Given the description of an element on the screen output the (x, y) to click on. 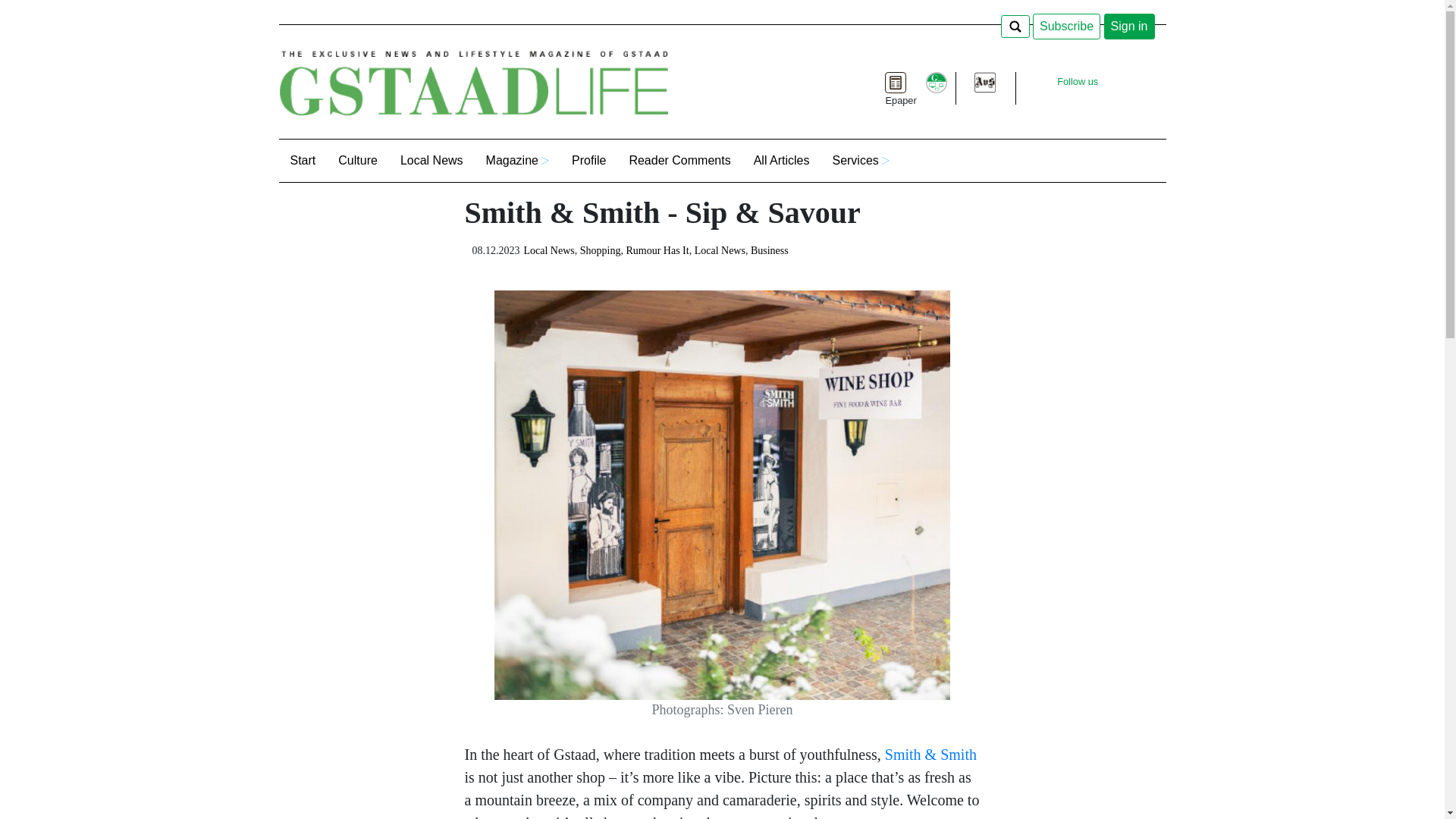
Culture (357, 160)
Sign in (1128, 26)
Profile (588, 160)
Photographs: Sven Pieren (721, 602)
Subscribe (1066, 26)
Magazine (517, 160)
Local News (431, 160)
Reader Comments (679, 160)
Services (860, 160)
All Articles (781, 160)
Start (303, 160)
